Given the description of an element on the screen output the (x, y) to click on. 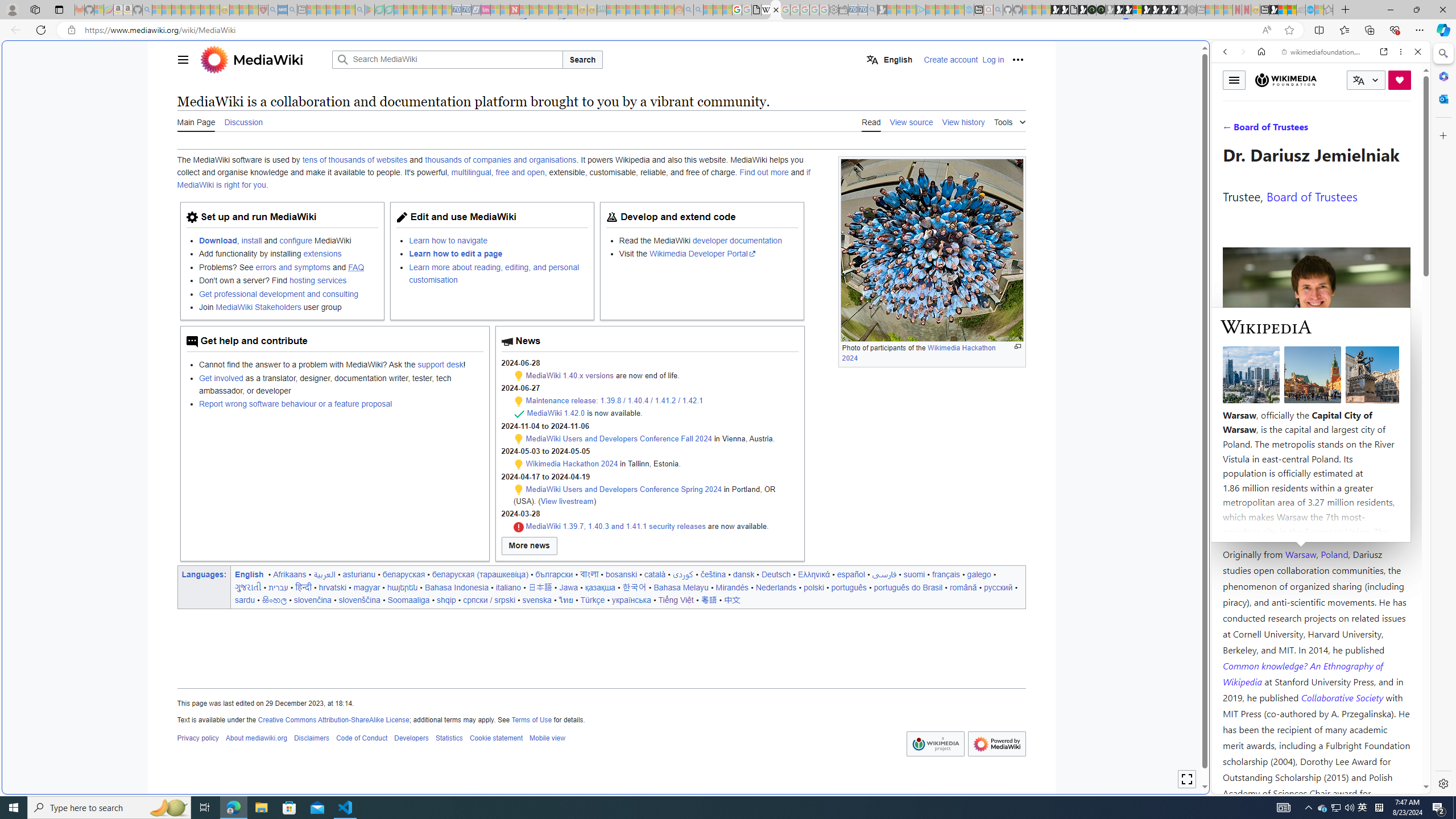
Harvard University (1259, 526)
Security (518, 526)
support desk (440, 364)
Services - Maintenance | Sky Blue Bikes - Sky Blue Bikes (1309, 9)
wikimediafoundation.org (1323, 51)
